Given the description of an element on the screen output the (x, y) to click on. 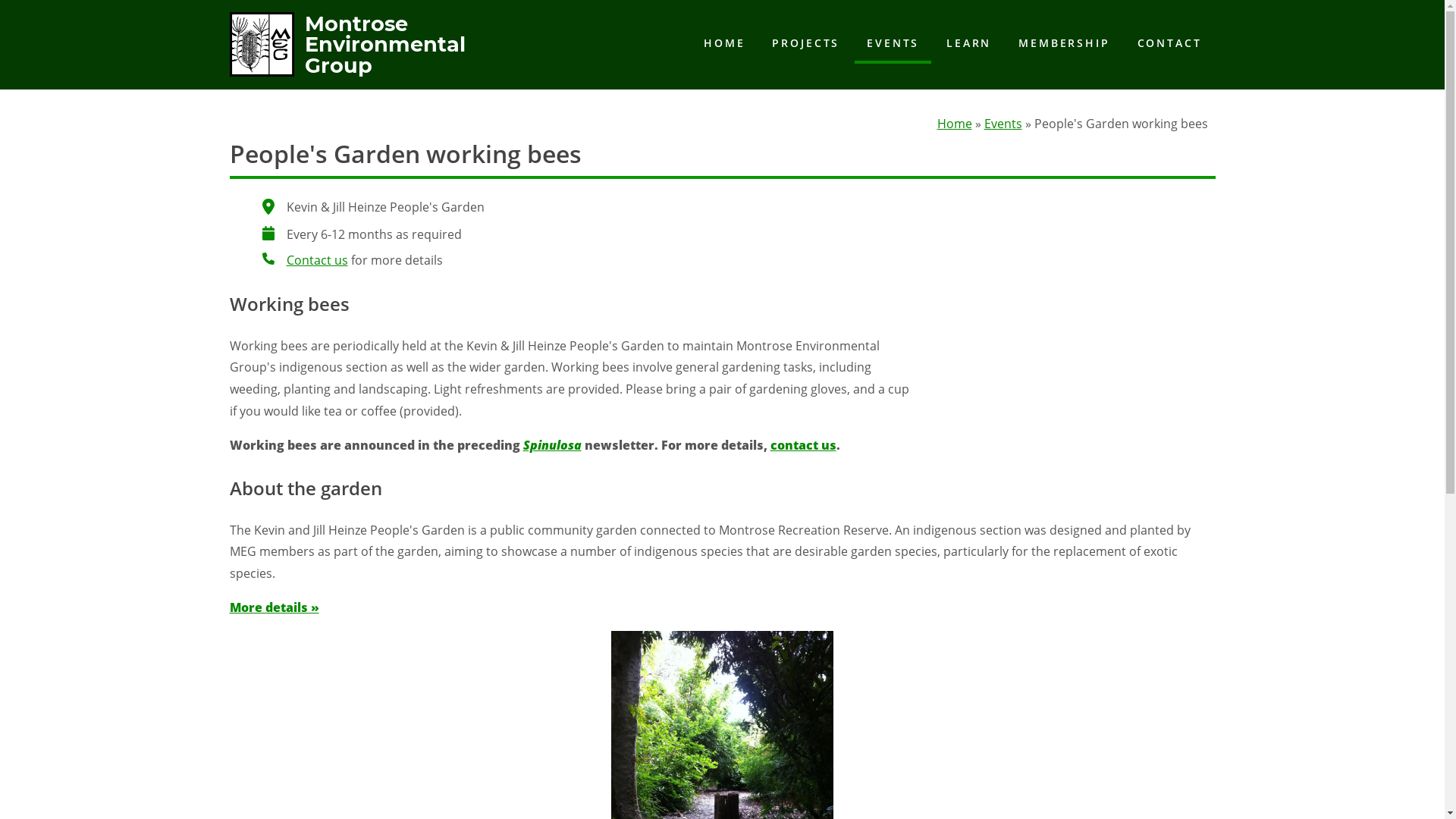
Events Element type: text (1003, 123)
Contact us Element type: text (317, 259)
MEMBERSHIP Element type: text (1063, 42)
PROJECTS Element type: text (805, 42)
CONTACT Element type: text (1169, 42)
Contact Element type: hover (268, 258)
Date Element type: hover (268, 232)
Montrose
Environmental
Group Element type: text (346, 67)
EVENTS Element type: text (892, 44)
Location Element type: hover (268, 206)
HOME Element type: text (723, 42)
contact us Element type: text (803, 444)
Spinulosa Element type: text (552, 444)
Home Element type: text (954, 123)
LEARN Element type: text (968, 42)
